Given the description of an element on the screen output the (x, y) to click on. 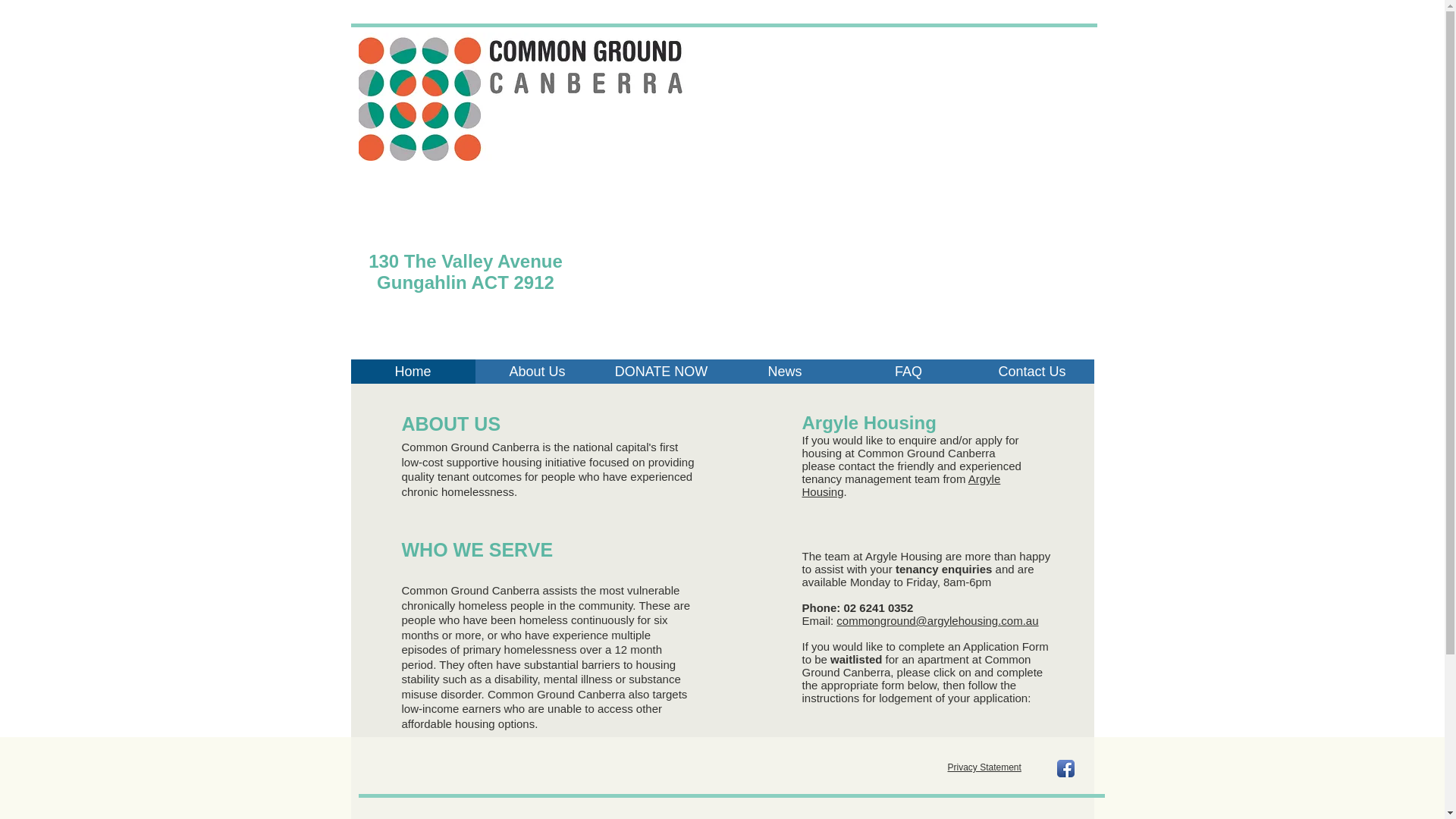
About Us Element type: text (536, 371)
Home Element type: text (412, 371)
News Element type: text (785, 371)
Argyle Housing Element type: text (901, 485)
commonground@argylehousing.com.au Element type: text (937, 620)
Privacy Statement Element type: text (984, 767)
Contact Us Element type: text (1032, 371)
DONATE NOW Element type: text (660, 371)
FAQ Element type: text (907, 371)
